Given the description of an element on the screen output the (x, y) to click on. 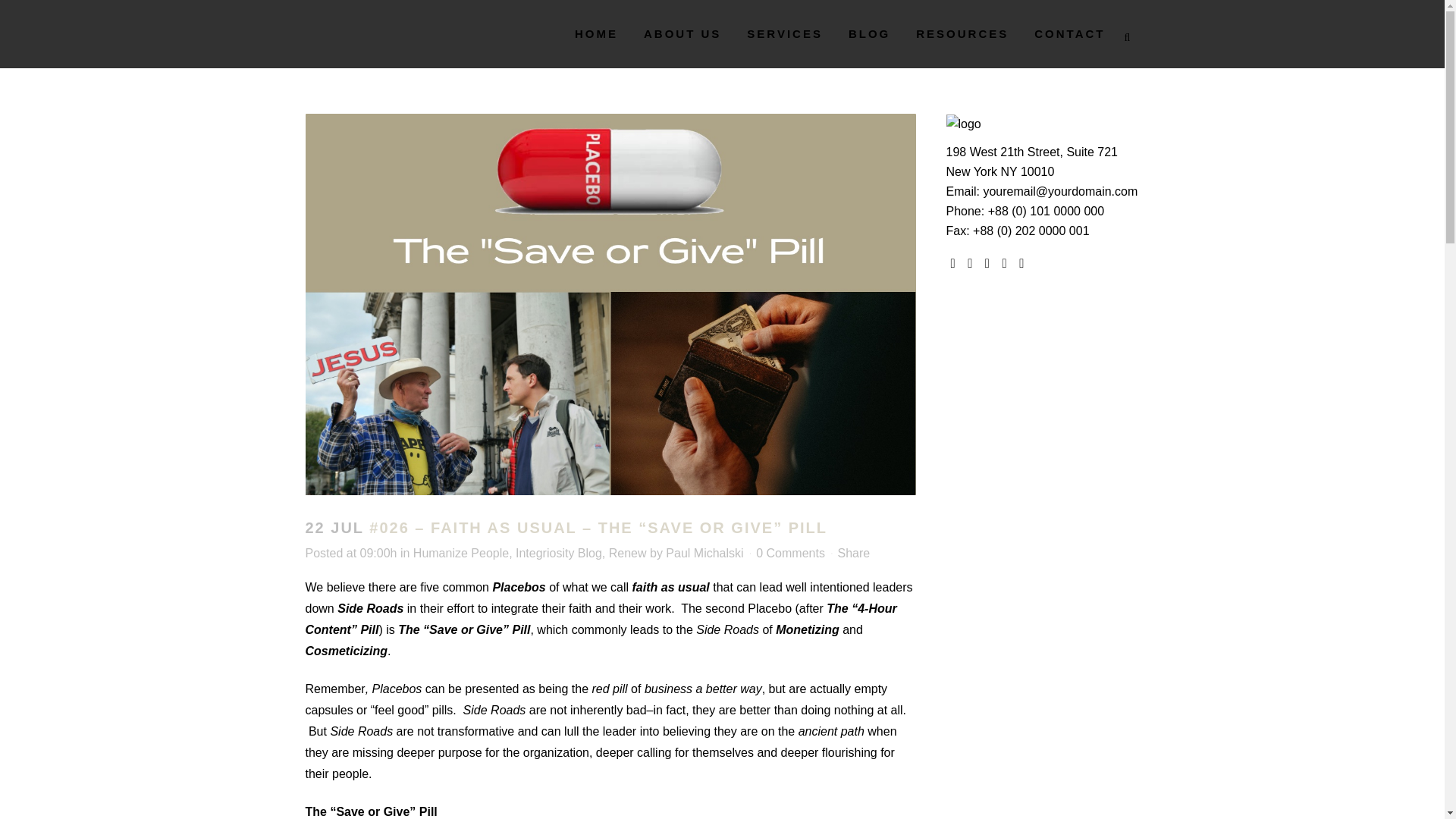
ABOUT US (681, 33)
CONTACT (1070, 33)
RESOURCES (962, 33)
BLOG (868, 33)
Integriosity Blog (558, 553)
SERVICES (784, 33)
Humanize People (460, 553)
0 Comments (790, 553)
HOME (596, 33)
Share (853, 553)
